Given the description of an element on the screen output the (x, y) to click on. 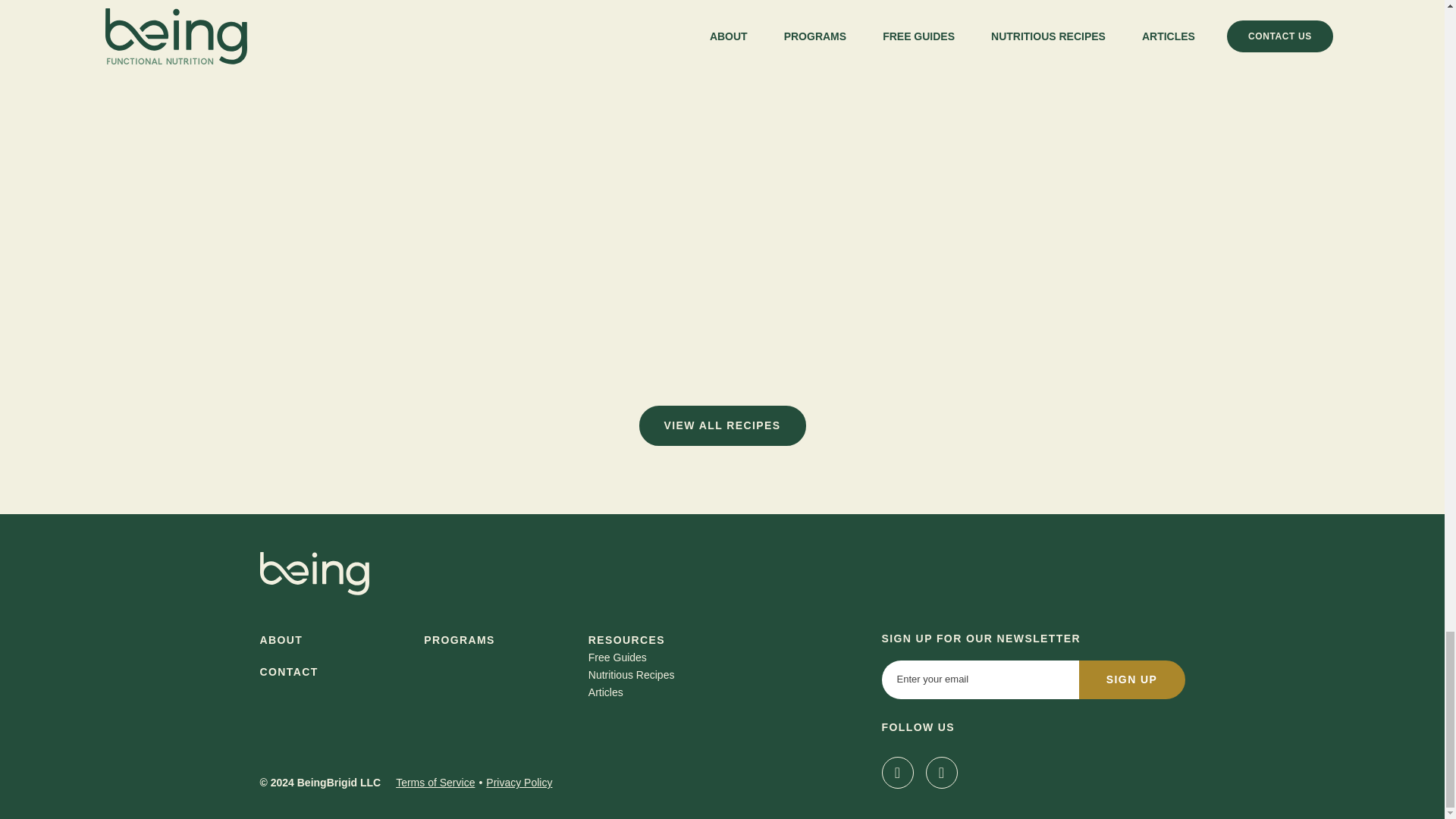
VIEW ALL RECIPES (722, 425)
Articles (605, 692)
Sign Up (1131, 679)
Youtube (940, 772)
Sign Up (1131, 679)
Privacy Policy (518, 782)
Instagram (896, 772)
Youtube (940, 772)
Instagram (896, 772)
Free Guides (617, 657)
Nutritious Recipes (631, 674)
ABOUT (280, 639)
RESOURCES (626, 639)
PROGRAMS (459, 639)
CONTACT (288, 671)
